Given the description of an element on the screen output the (x, y) to click on. 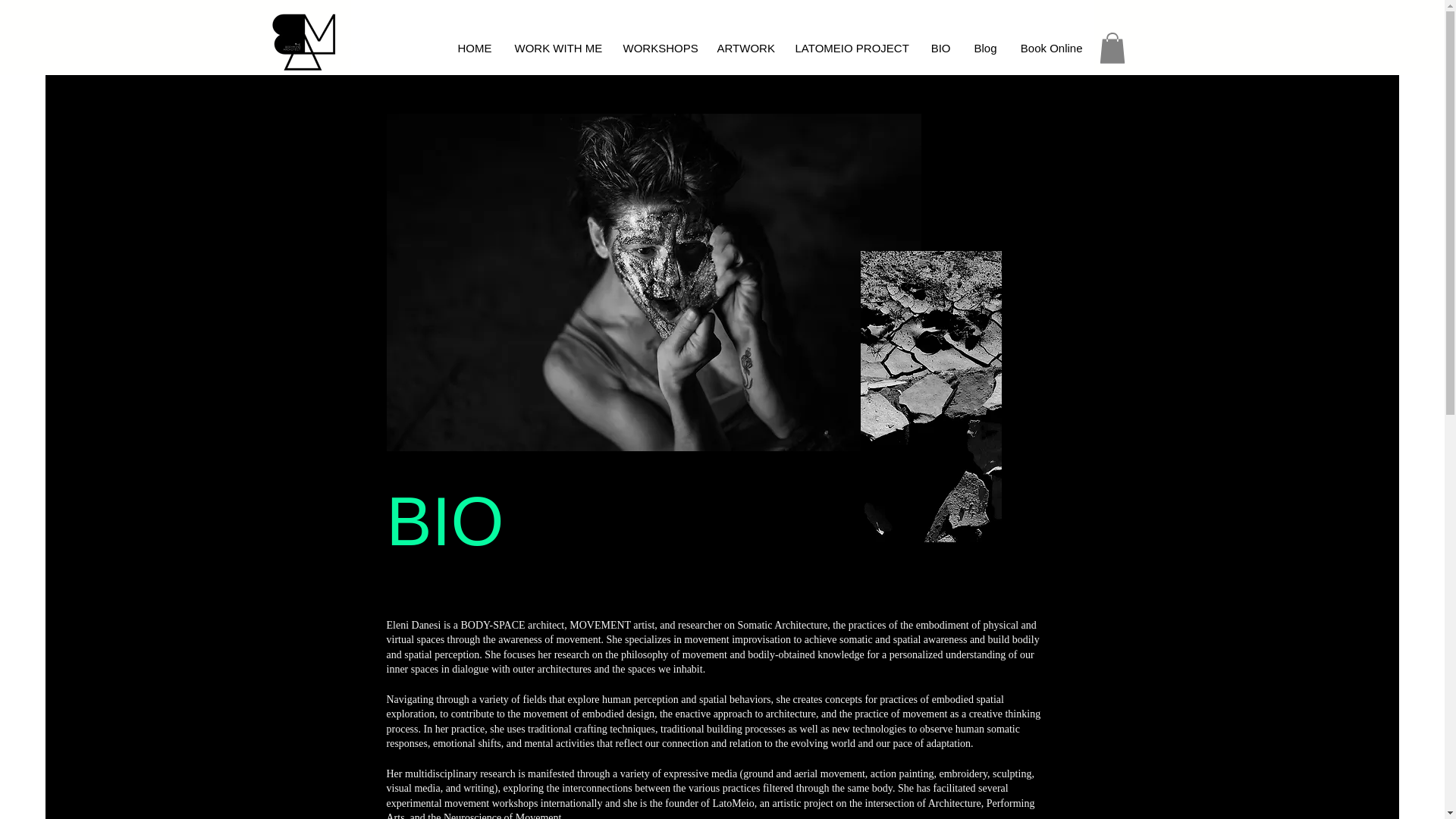
WORKSHOPS (657, 48)
ARTWORK (743, 48)
WORK WITH ME (557, 48)
HOME (474, 48)
LATOMEIO PROJECT (852, 48)
Book Online (1051, 48)
BIO (939, 48)
Blog (983, 48)
